Given the description of an element on the screen output the (x, y) to click on. 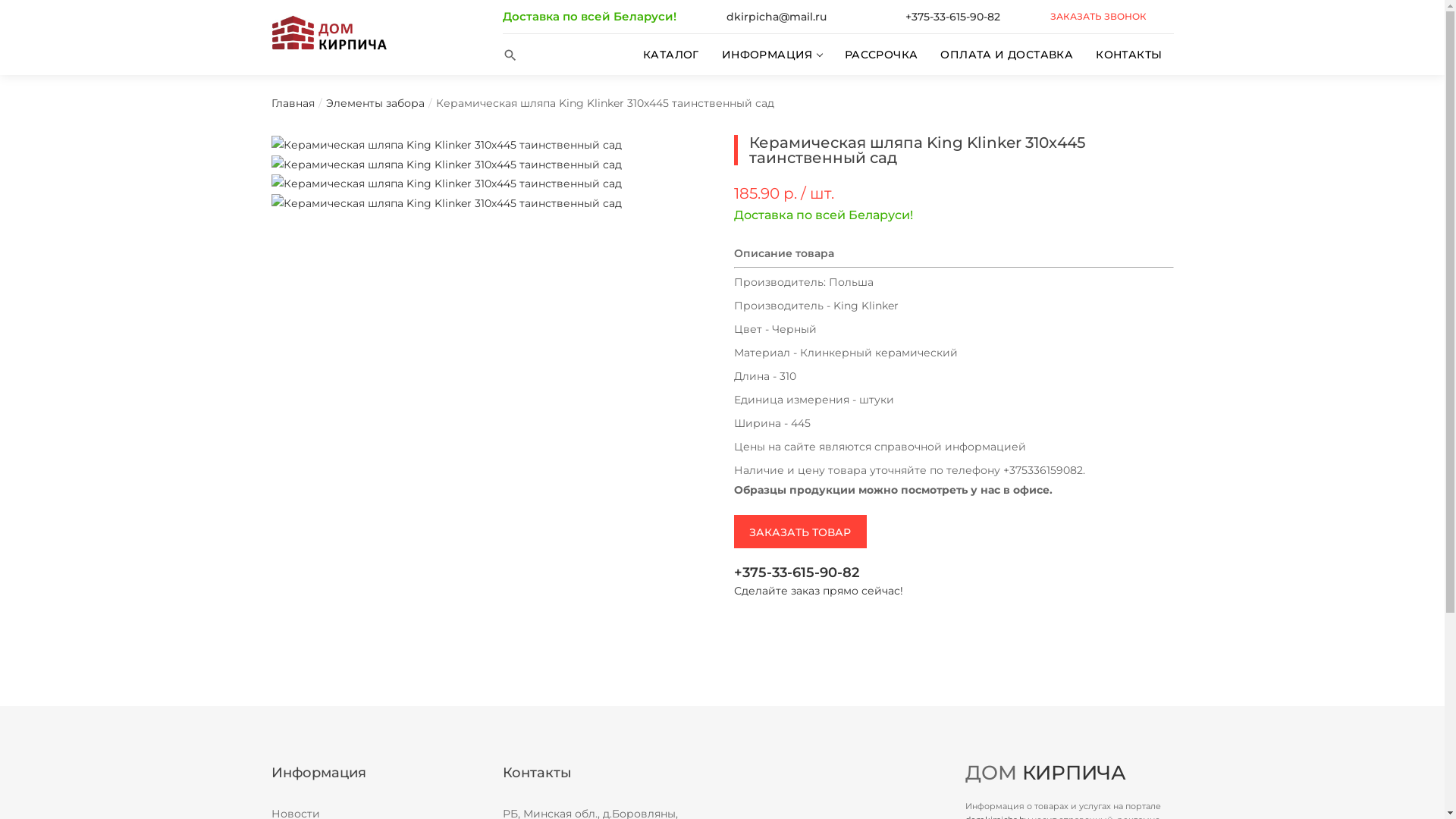
+375-33-615-90-82 Element type: text (952, 16)
dkirpicha@mail.ru Element type: text (776, 16)
+375-33-615-90-82 Element type: text (953, 572)
